Given the description of an element on the screen output the (x, y) to click on. 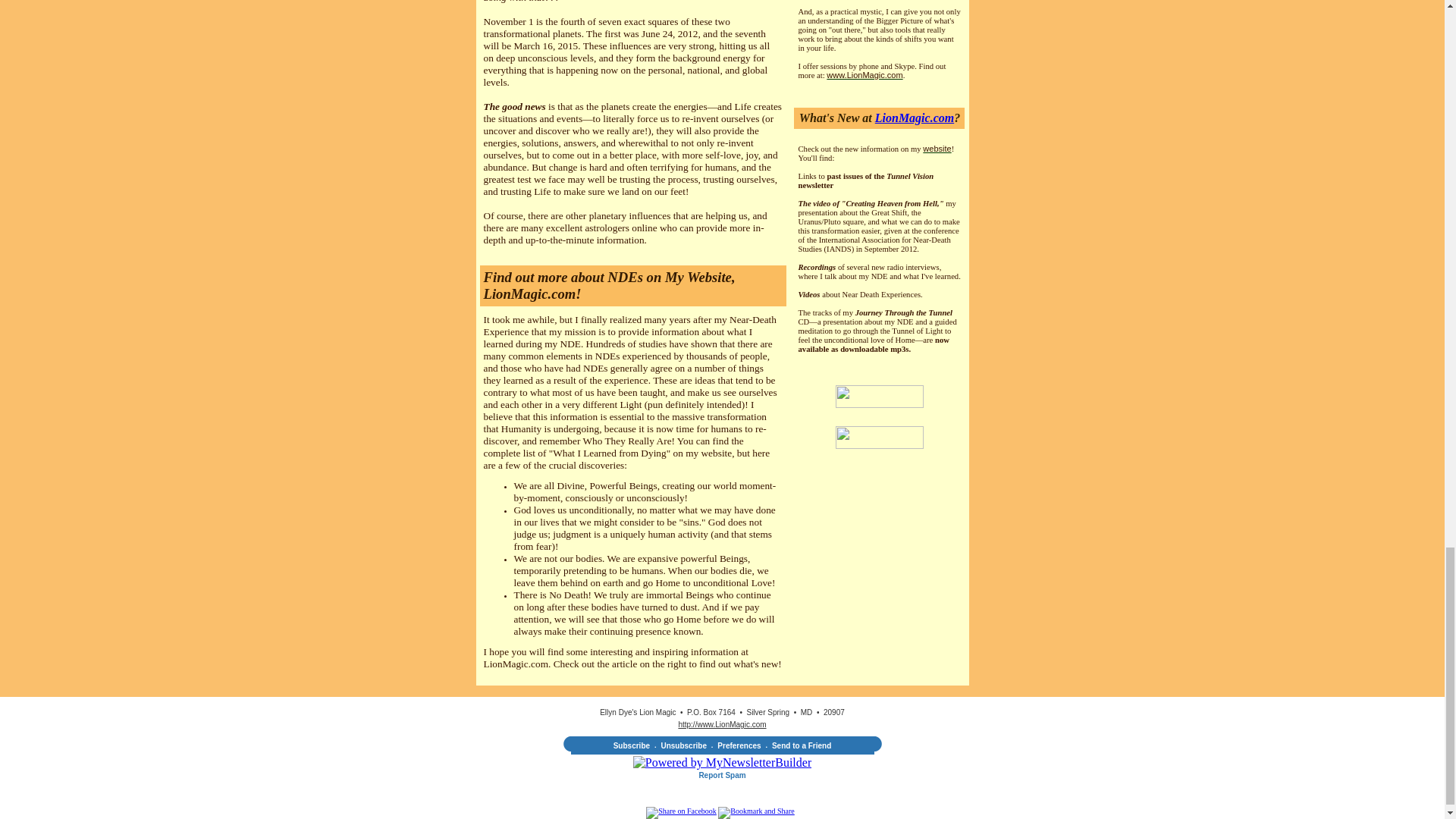
Bookmark and Share (755, 810)
website (936, 148)
Send to a Friend (801, 746)
www.LionMagic.com (864, 74)
Unsubscribe (683, 746)
Subscribe (630, 746)
LionMagic.com (914, 117)
Preferences (738, 746)
Report Spam (721, 775)
